Given the description of an element on the screen output the (x, y) to click on. 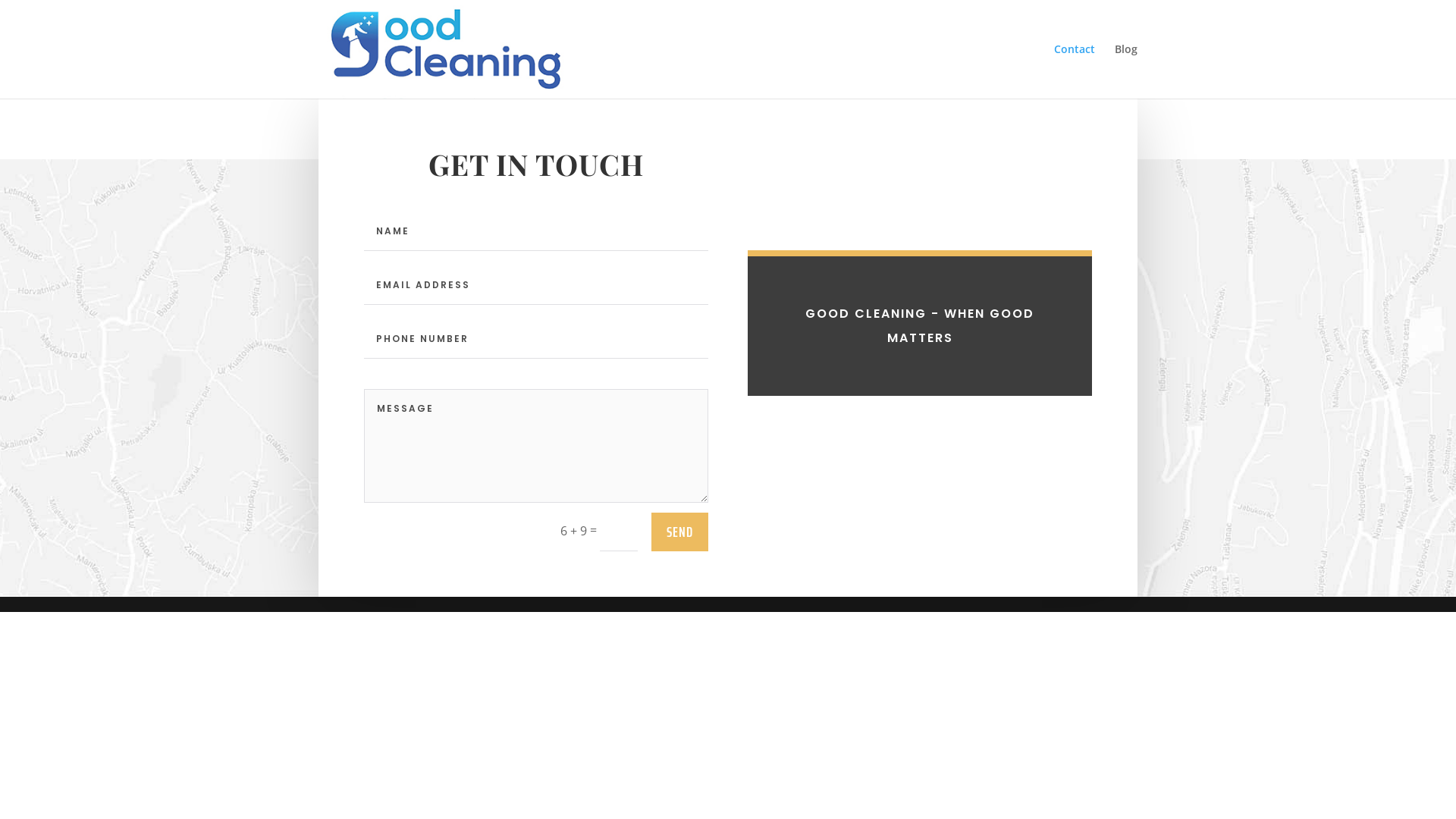
Blog Element type: text (1125, 70)
SEND Element type: text (679, 531)
Contact Element type: text (1074, 70)
